Given the description of an element on the screen output the (x, y) to click on. 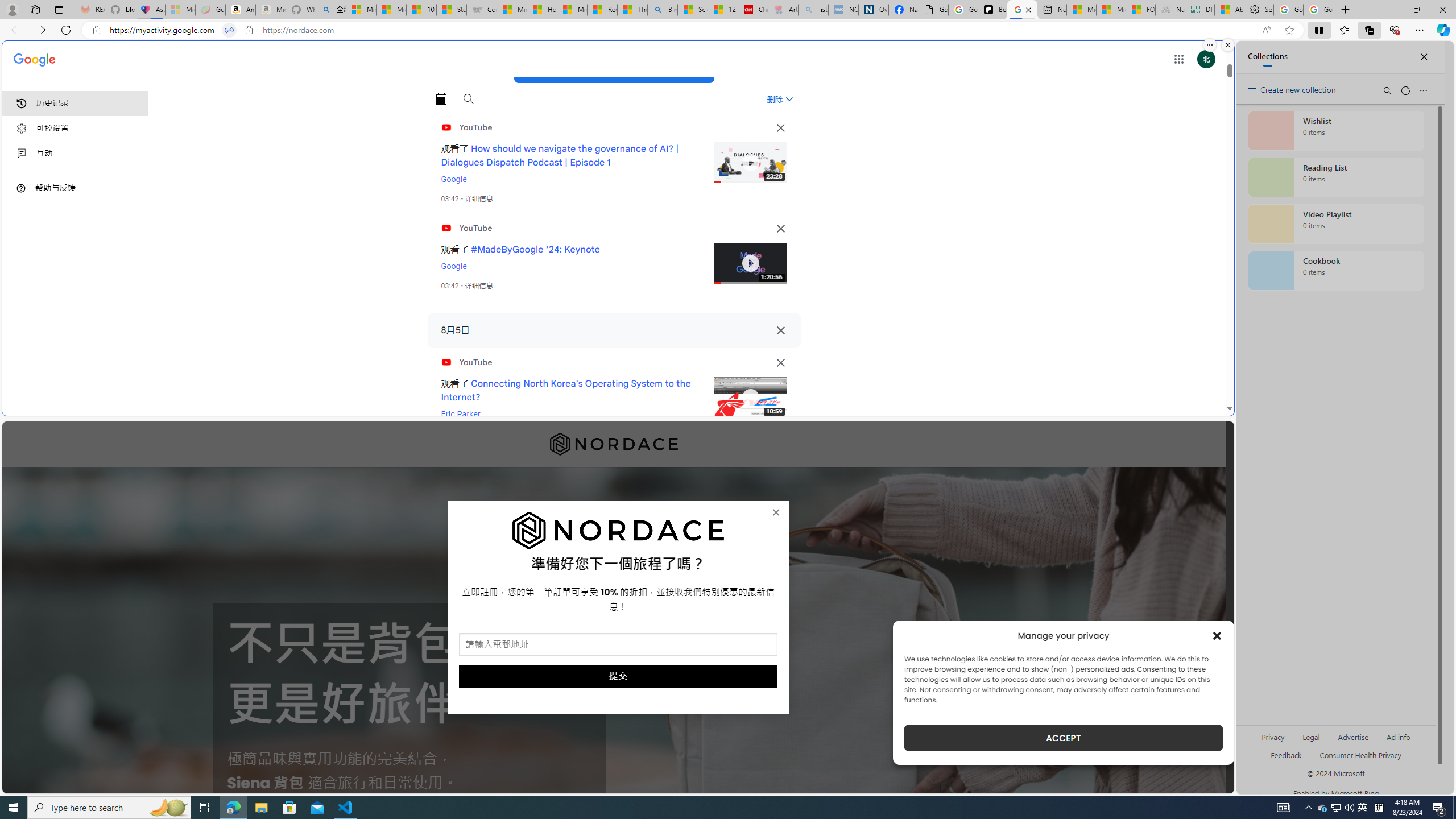
Class: DI7Mnf NMm5M (780, 330)
